Given the description of an element on the screen output the (x, y) to click on. 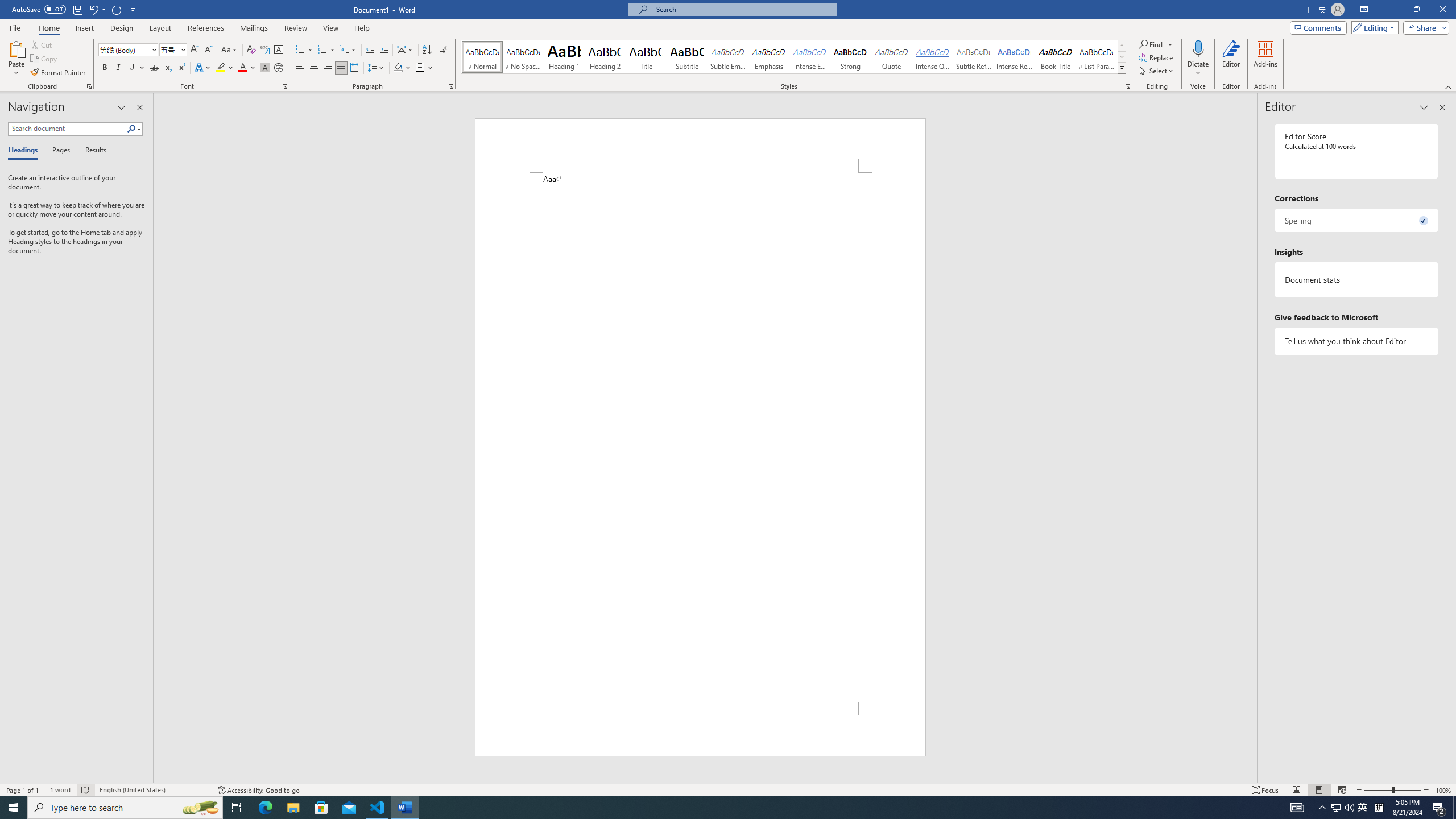
Intense Reference (1014, 56)
